Given the description of an element on the screen output the (x, y) to click on. 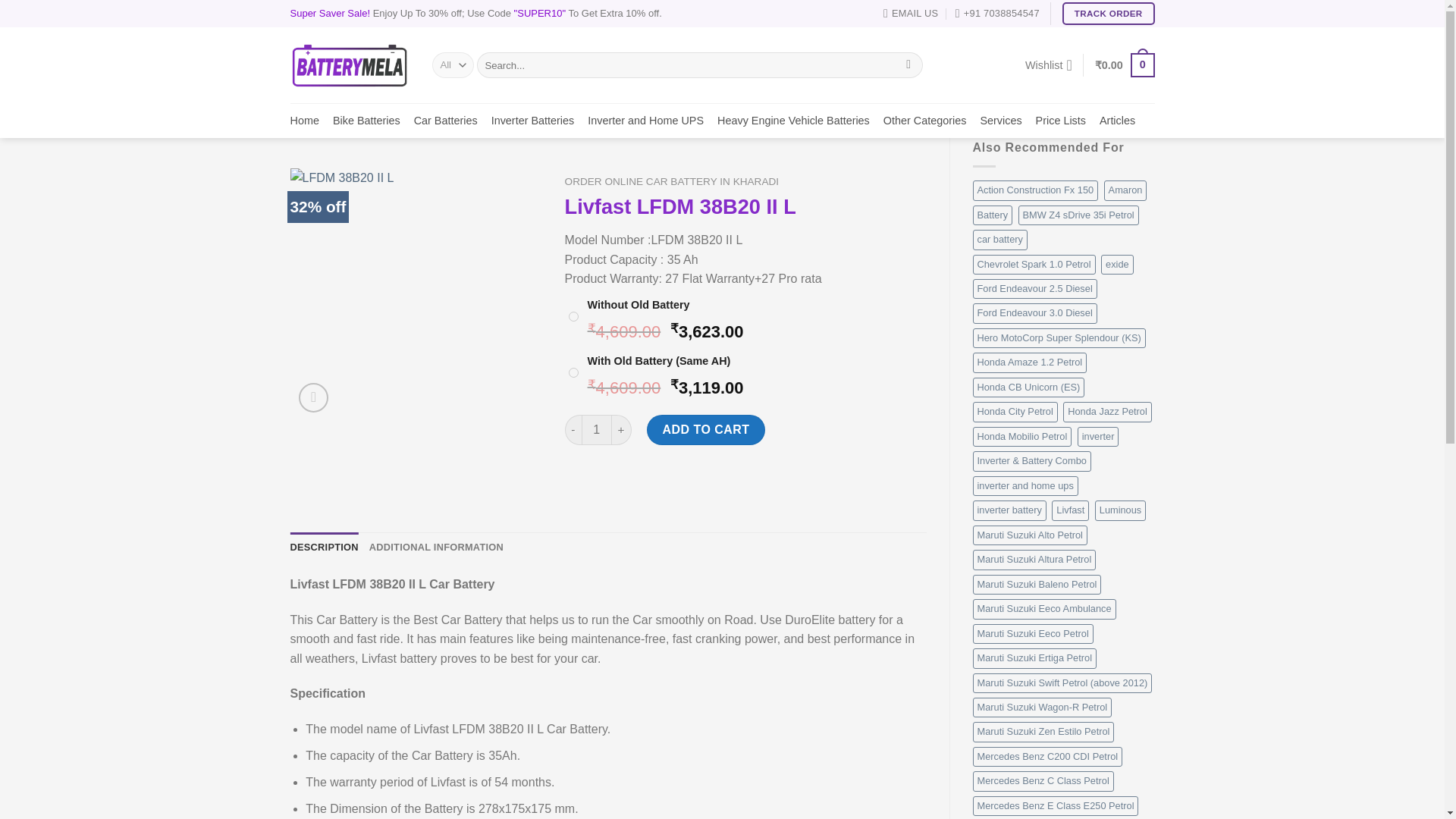
Wishlist (1048, 64)
Cart (1124, 64)
Zoom (313, 397)
Search (908, 64)
Bike Batteries (366, 120)
Qty (595, 429)
EMAIL US (910, 13)
on (573, 316)
1 (595, 429)
TRACK ORDER (1108, 13)
Home (303, 120)
durosuper-lfdm-38b20-ii-l-500x500 (415, 294)
on (573, 372)
